Given the description of an element on the screen output the (x, y) to click on. 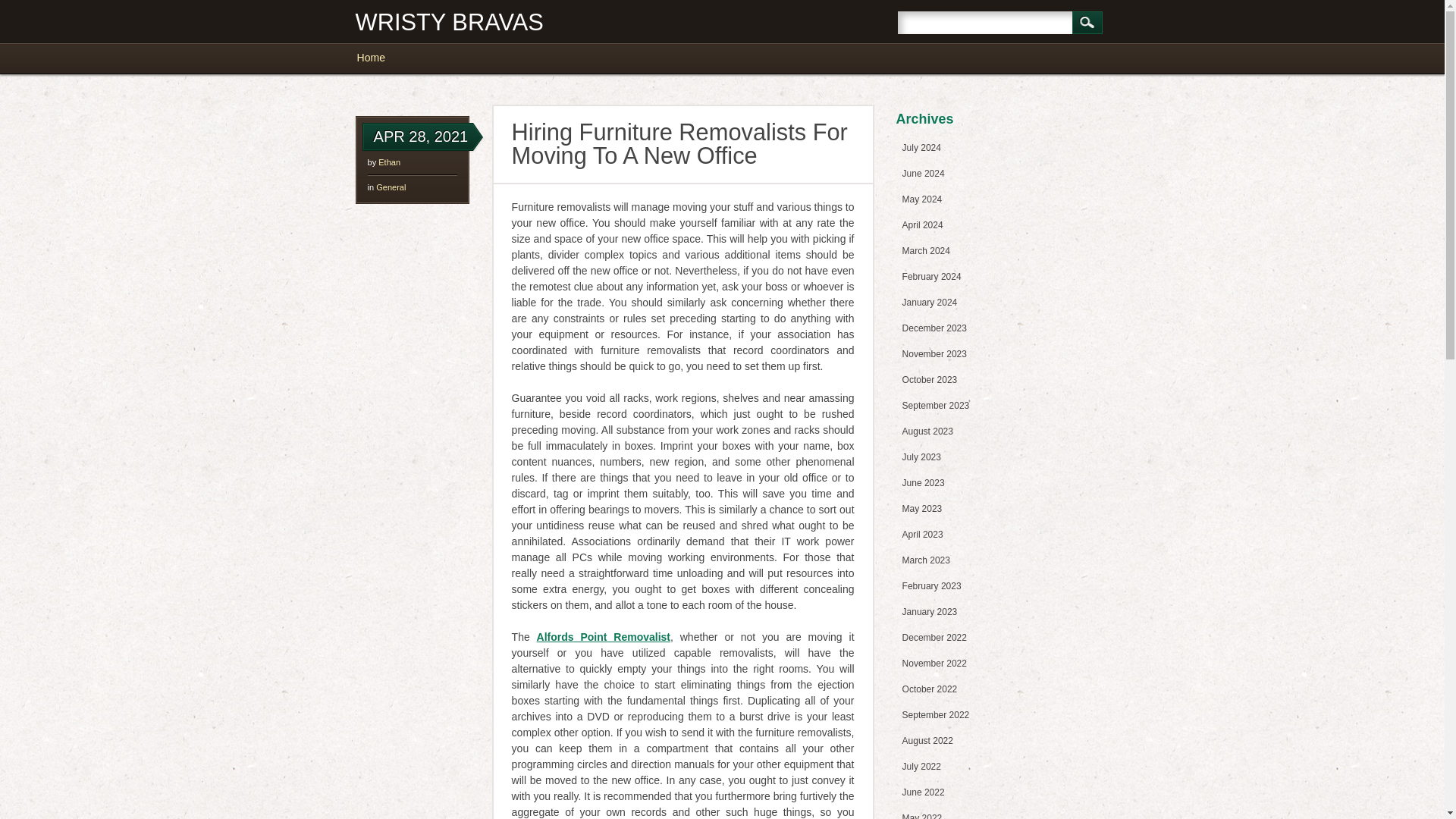
Ethan (389, 162)
October 2023 (930, 379)
April 2024 (922, 225)
APR 28, 2021 (421, 135)
December 2022 (934, 637)
Search (1086, 22)
September 2022 (935, 715)
August 2023 (927, 430)
General (390, 186)
View all posts by Ethan (389, 162)
